Given the description of an element on the screen output the (x, y) to click on. 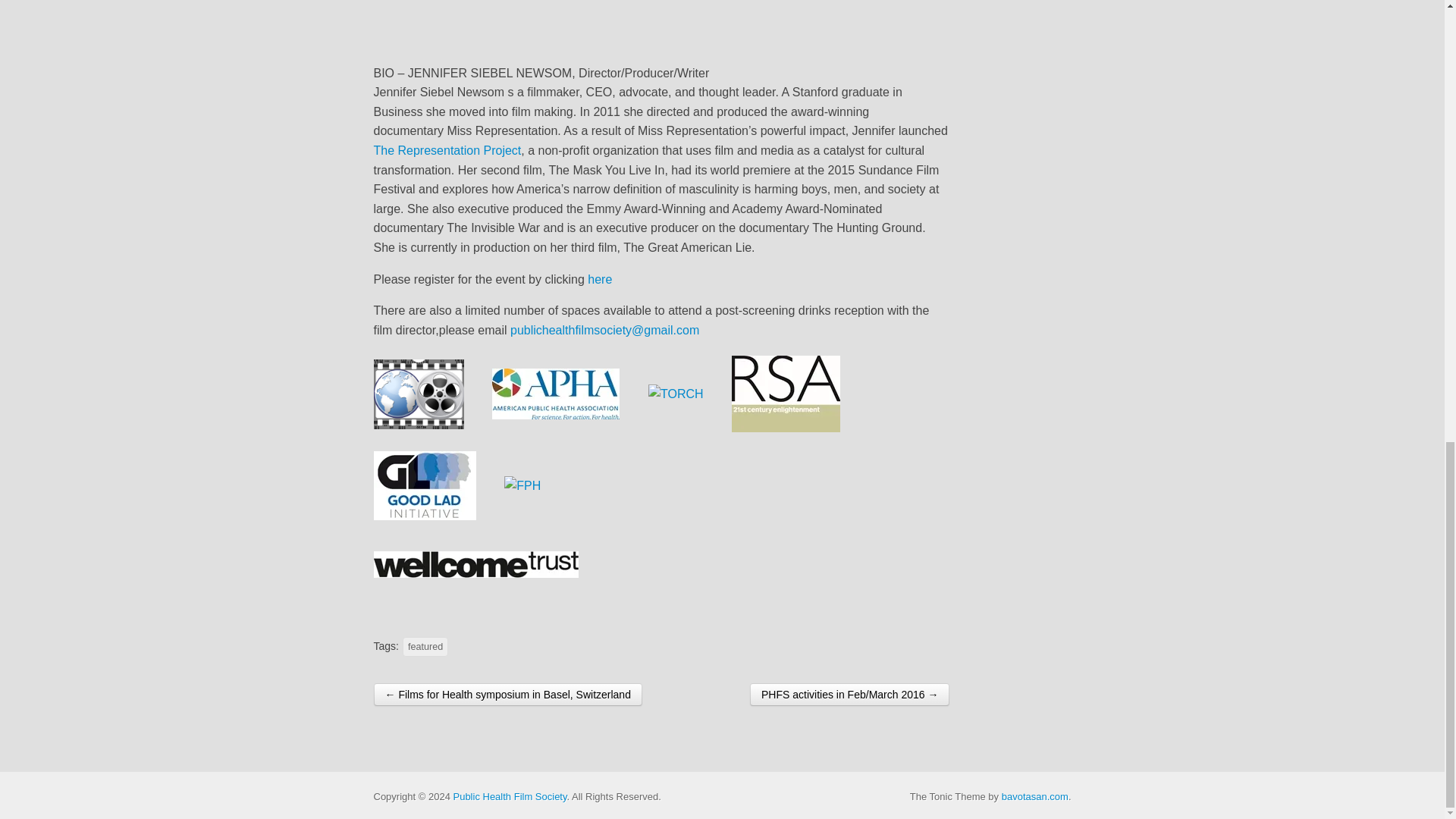
here (599, 278)
The Representation Project (446, 150)
YouTube player (660, 25)
